Given the description of an element on the screen output the (x, y) to click on. 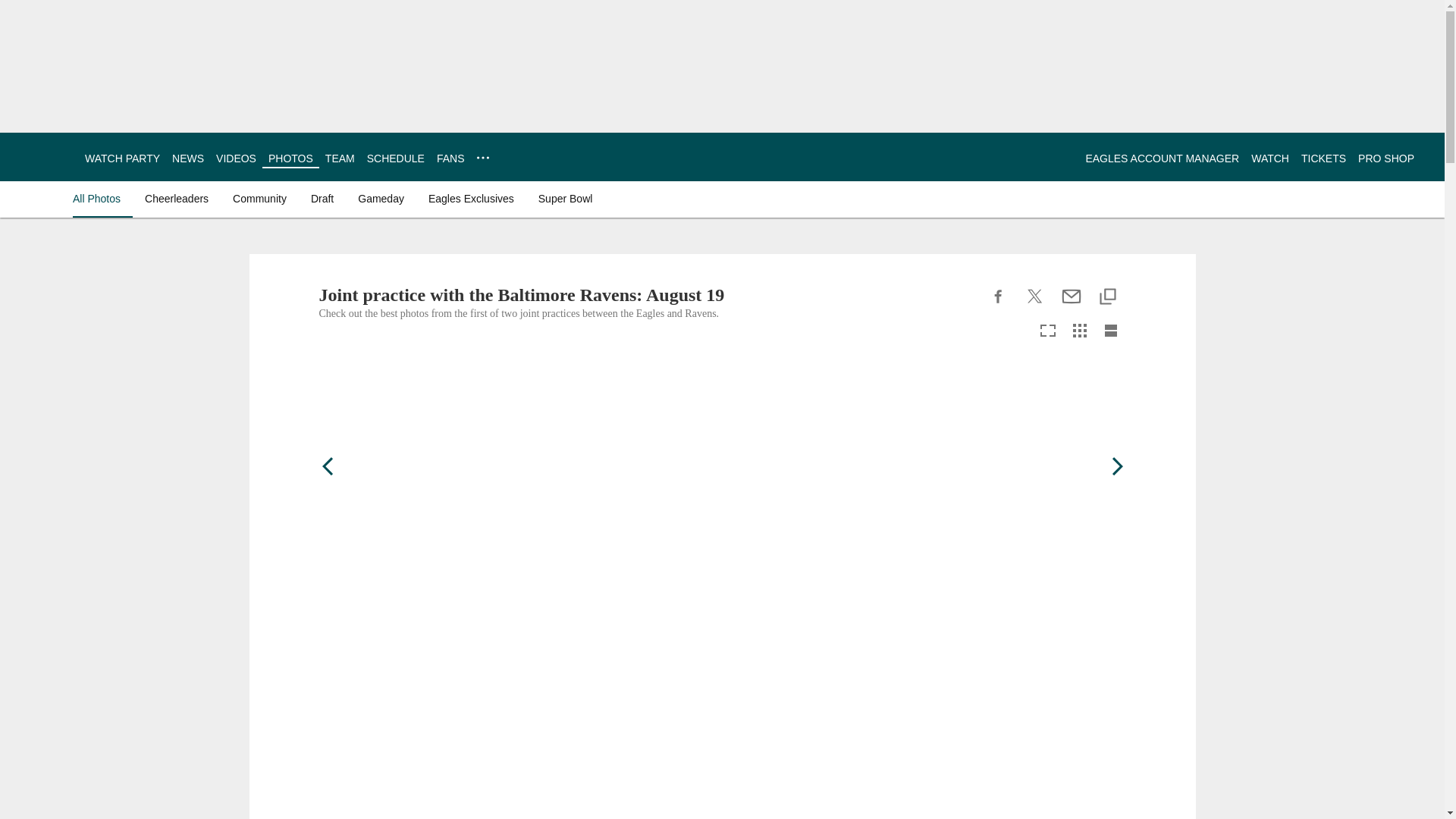
WATCH PARTY (122, 158)
TICKETS (1323, 158)
TICKETS (1323, 158)
All Photos (99, 198)
WATCH PARTY (122, 158)
NEWS (187, 158)
WATCH (1269, 158)
EAGLES ACCOUNT MANAGER (1161, 158)
SCHEDULE (395, 158)
FANS (450, 158)
